Given the description of an element on the screen output the (x, y) to click on. 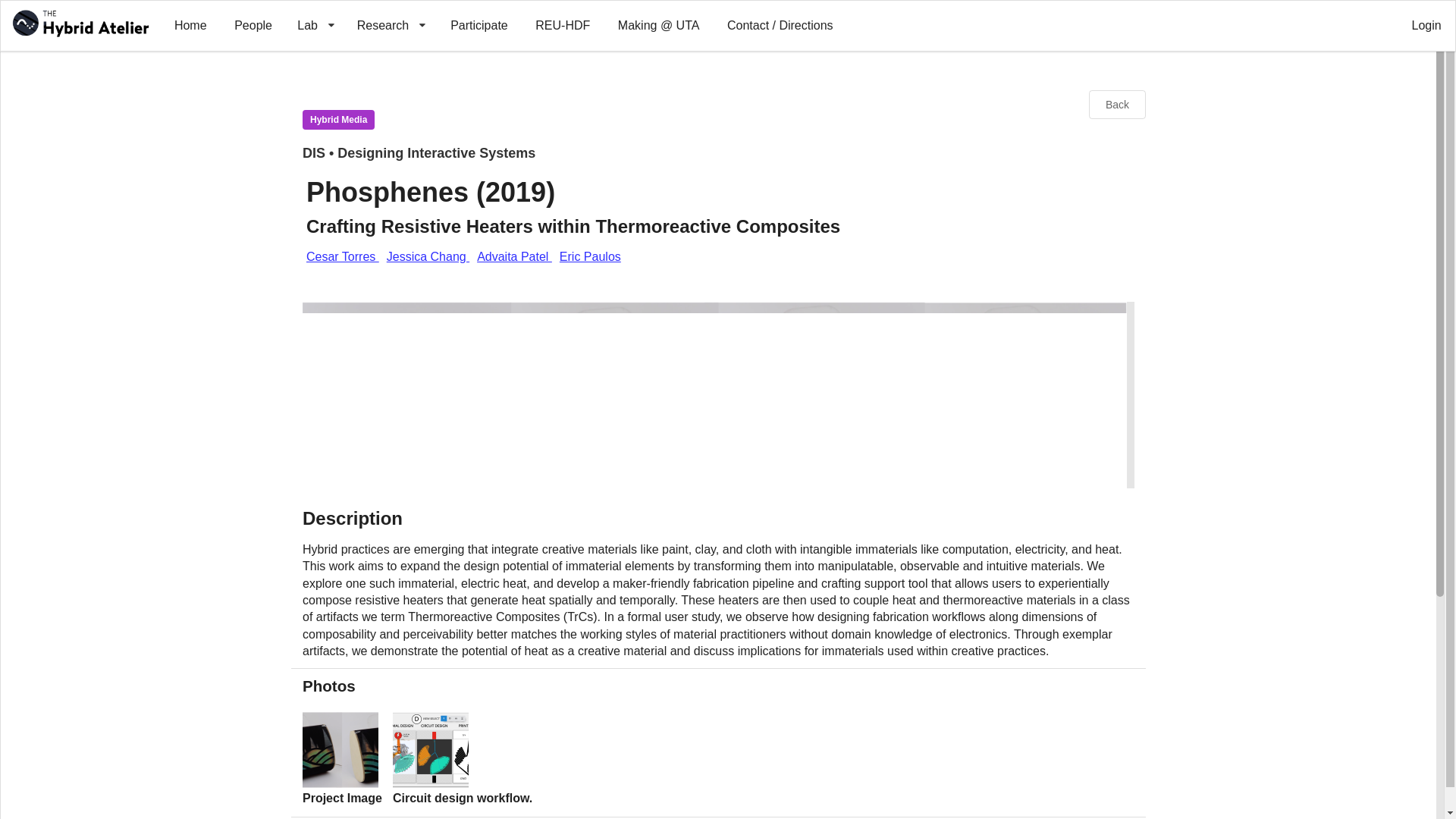
Back (1116, 103)
People (253, 25)
Jessica Chang (427, 256)
Participate (478, 25)
REU-HDF (562, 25)
Eric Paulos (590, 256)
Advaita Patel (514, 256)
Cesar Torres (341, 256)
Home (190, 25)
